Given the description of an element on the screen output the (x, y) to click on. 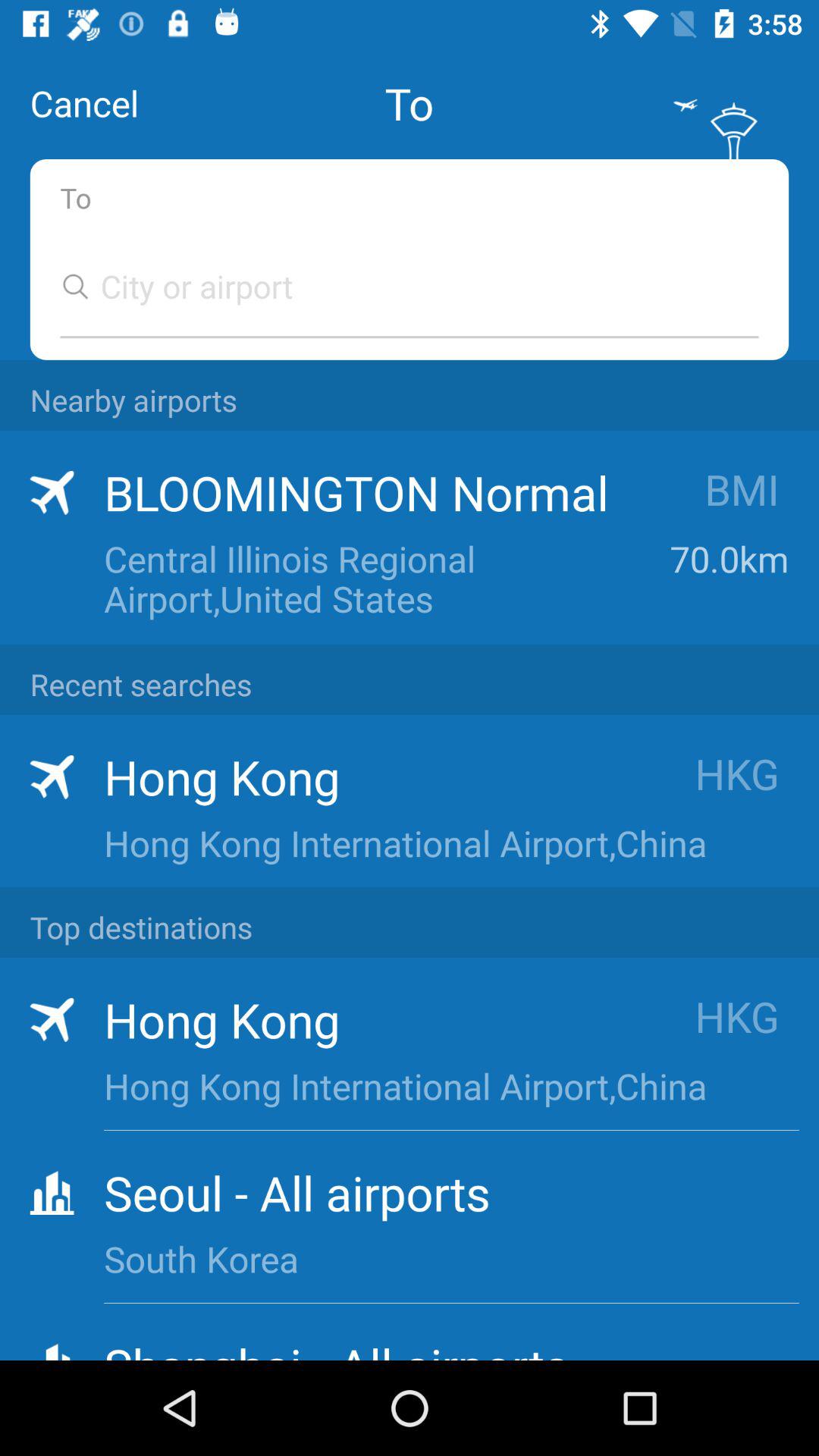
swipe until cancel (84, 103)
